Given the description of an element on the screen output the (x, y) to click on. 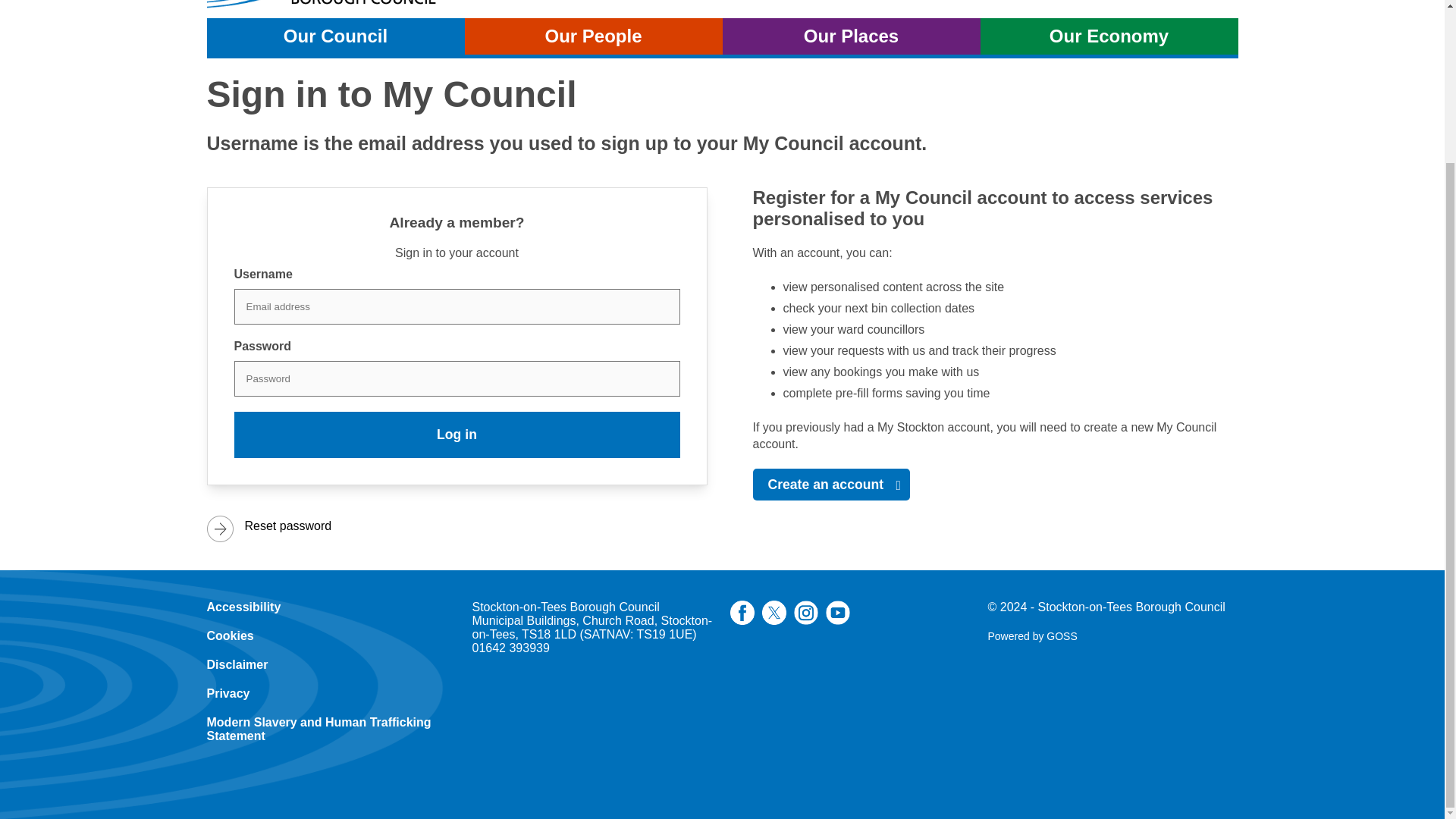
Log in (455, 434)
Stockton Council - Facebook (741, 620)
Cookies (229, 635)
Create an account (831, 484)
Stockton Council  - Twitter (338, 4)
Our People (773, 620)
Privacy (593, 36)
Disclaimer (227, 693)
